Given the description of an element on the screen output the (x, y) to click on. 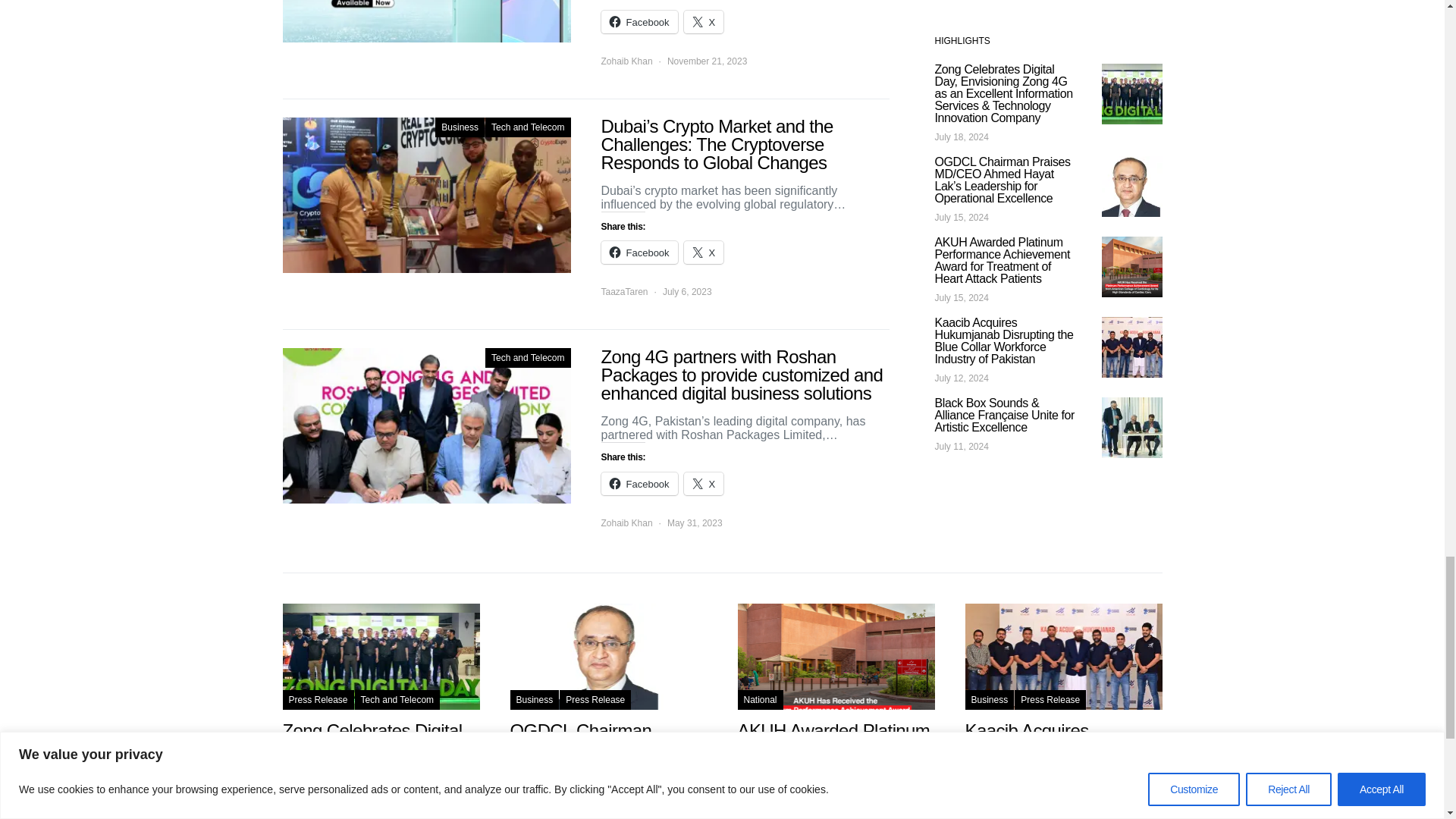
Click to share on Facebook (638, 21)
Click to share on X (703, 251)
View all posts by Zohaib Khan (625, 60)
Click to share on X (703, 21)
Click to share on X (703, 483)
View all posts by TaazaTaren (623, 291)
Click to share on Facebook (638, 483)
View all posts by Zohaib Khan (625, 522)
Click to share on Facebook (638, 251)
